Given the description of an element on the screen output the (x, y) to click on. 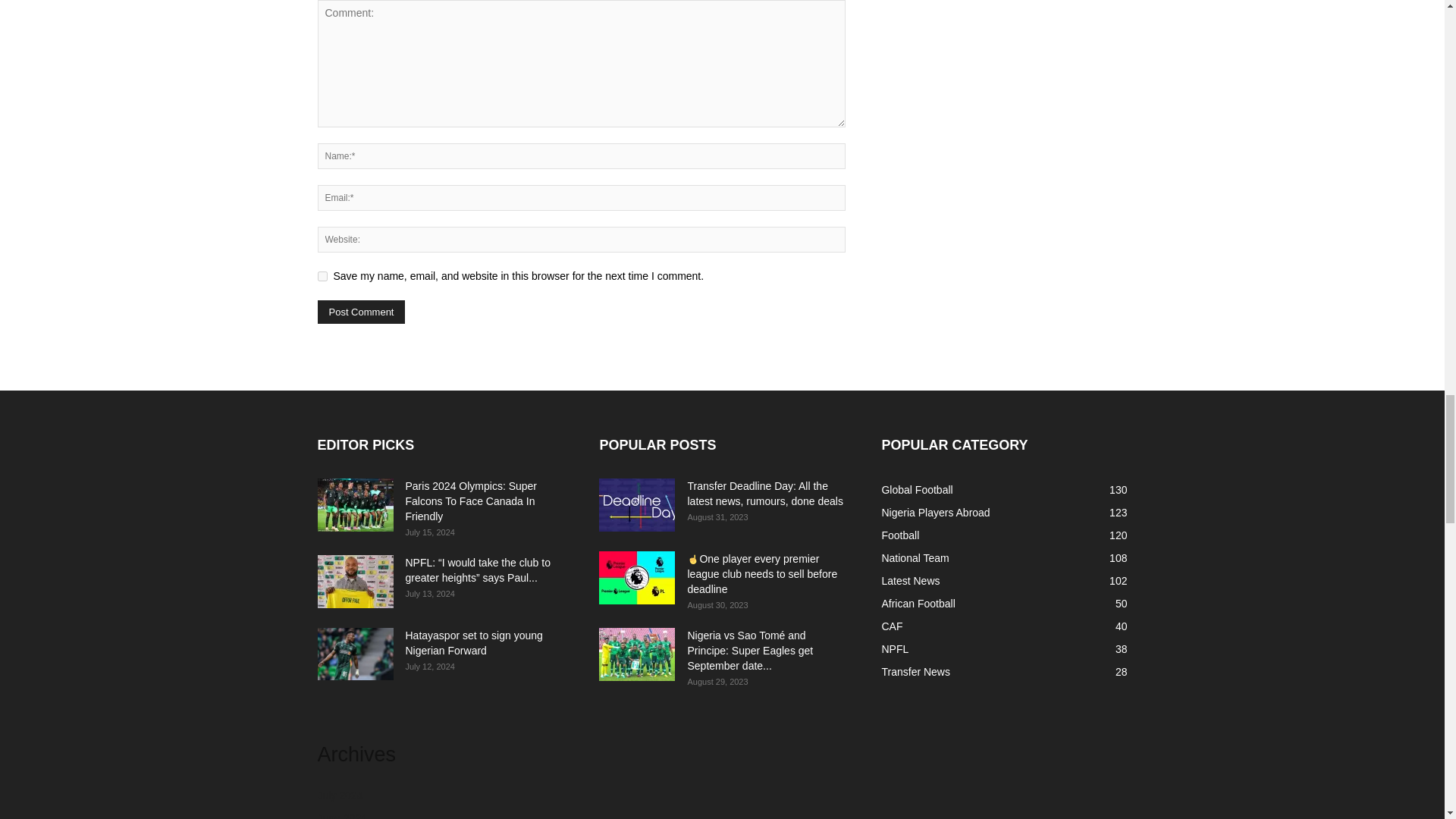
Post Comment (360, 311)
yes (321, 276)
